Given the description of an element on the screen output the (x, y) to click on. 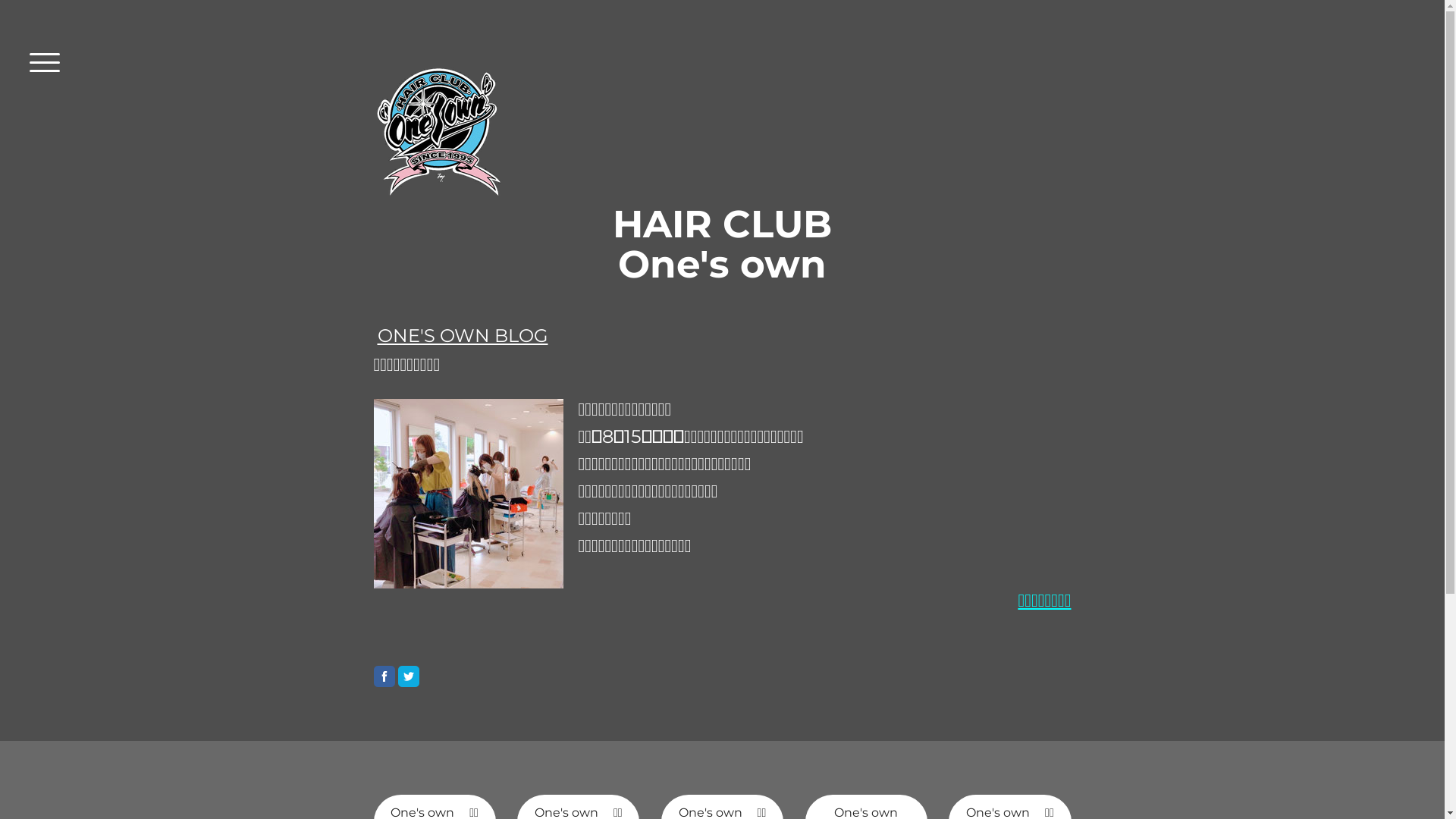
Facebook Element type: hover (383, 676)
Twitter Element type: hover (407, 676)
ONE'S OWN BLOG Element type: text (462, 335)
HAIR CLUB
One's own Element type: text (721, 244)
